Given the description of an element on the screen output the (x, y) to click on. 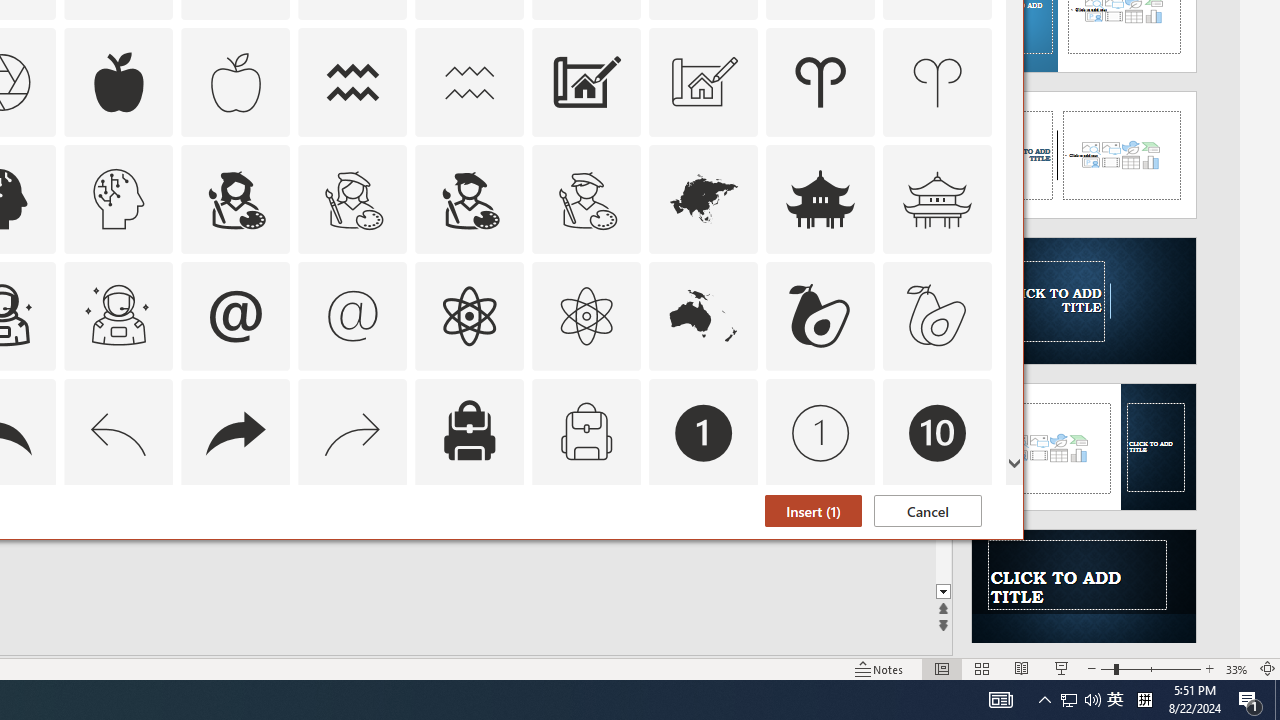
AutomationID: Icons_ArtistFemale (235, 198)
AutomationID: Icons_Back_RTL (235, 432)
AutomationID: Icons_ArtistMale (469, 198)
AutomationID: Icons_ArtistFemale_M (353, 198)
AutomationID: Icons_ArtificialIntelligence_M (118, 198)
